Given the description of an element on the screen output the (x, y) to click on. 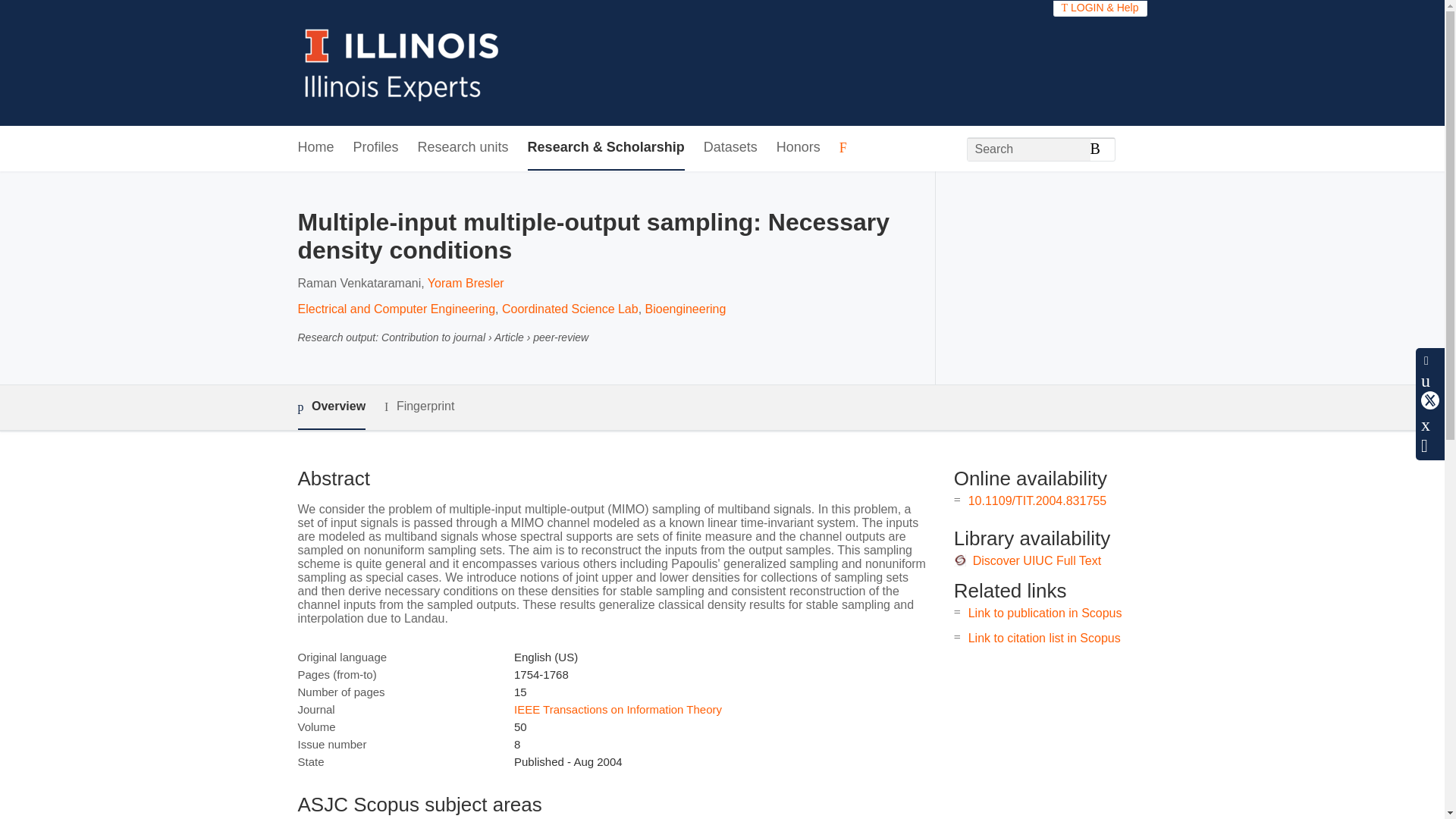
Bioengineering (685, 308)
Link to publication in Scopus (1045, 612)
Honors (798, 148)
Link to citation list in Scopus (1044, 637)
IEEE Transactions on Information Theory (617, 708)
Profiles (375, 148)
Fingerprint (419, 406)
Yoram Bresler (465, 282)
University of Illinois Urbana-Champaign Home (402, 62)
Discover UIUC Full Text (1037, 560)
Research units (462, 148)
Overview (331, 406)
Electrical and Computer Engineering (396, 308)
Datasets (730, 148)
